Given the description of an element on the screen output the (x, y) to click on. 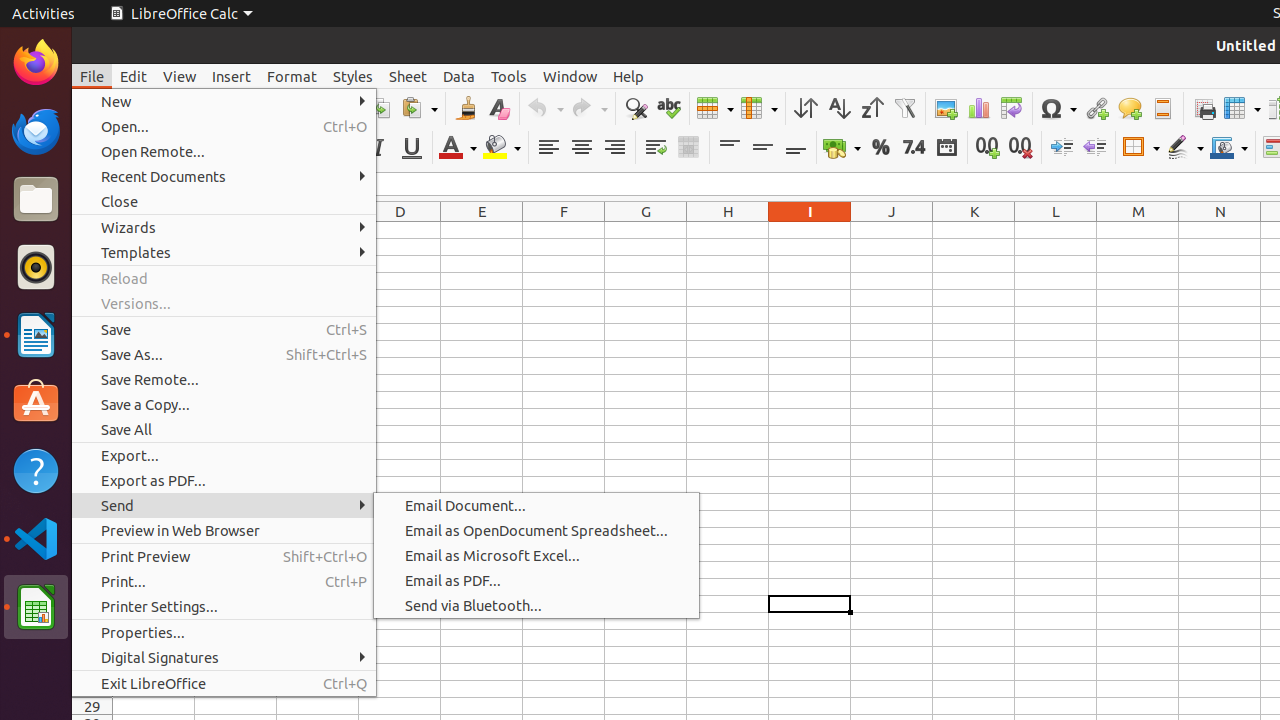
Percent Element type: push-button (880, 147)
Symbol Element type: push-button (1058, 108)
E1 Element type: table-cell (482, 230)
Sheet Element type: menu (408, 76)
Font Color Element type: push-button (458, 147)
